Given the description of an element on the screen output the (x, y) to click on. 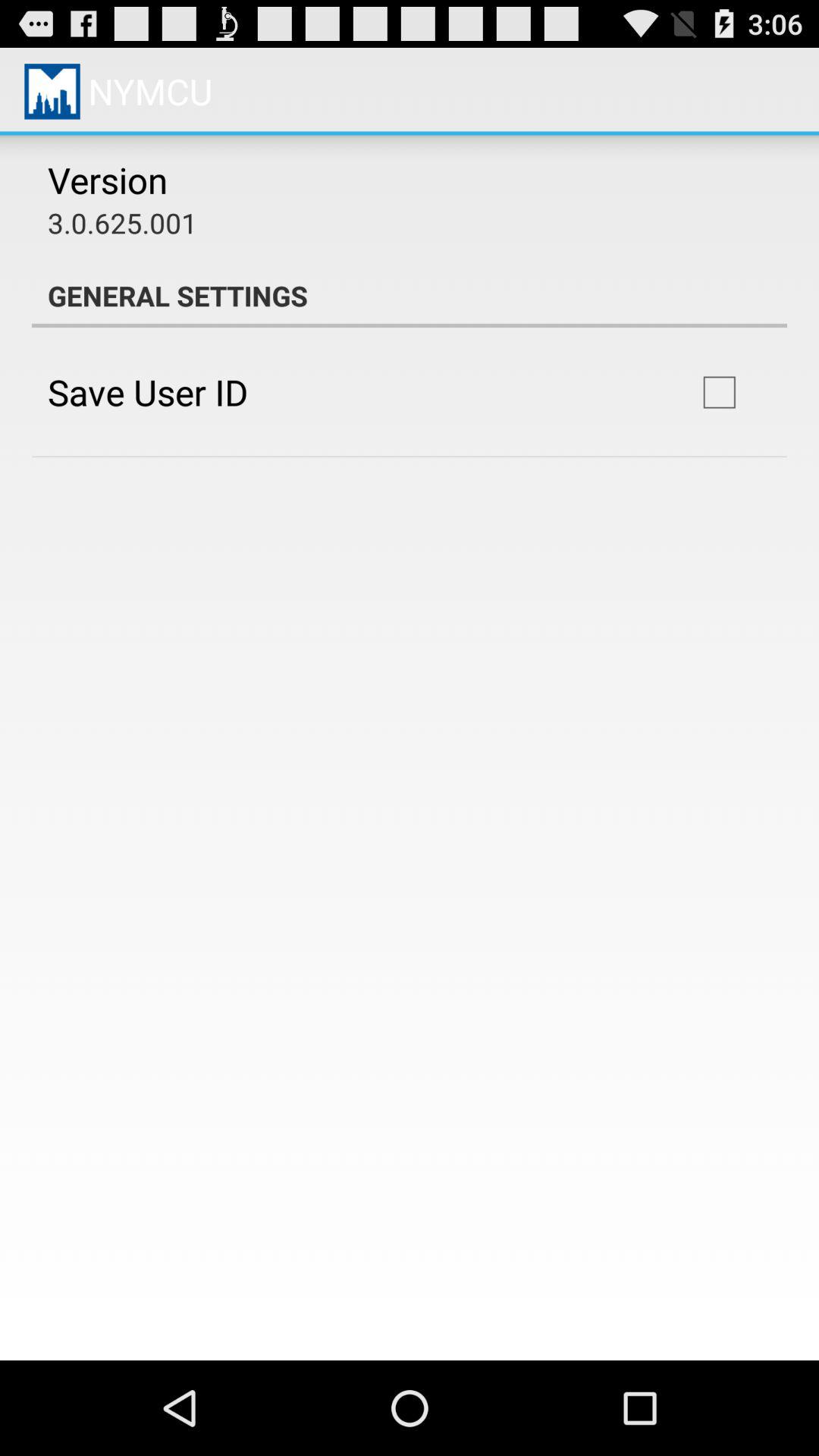
open icon above the general settings (122, 222)
